Given the description of an element on the screen output the (x, y) to click on. 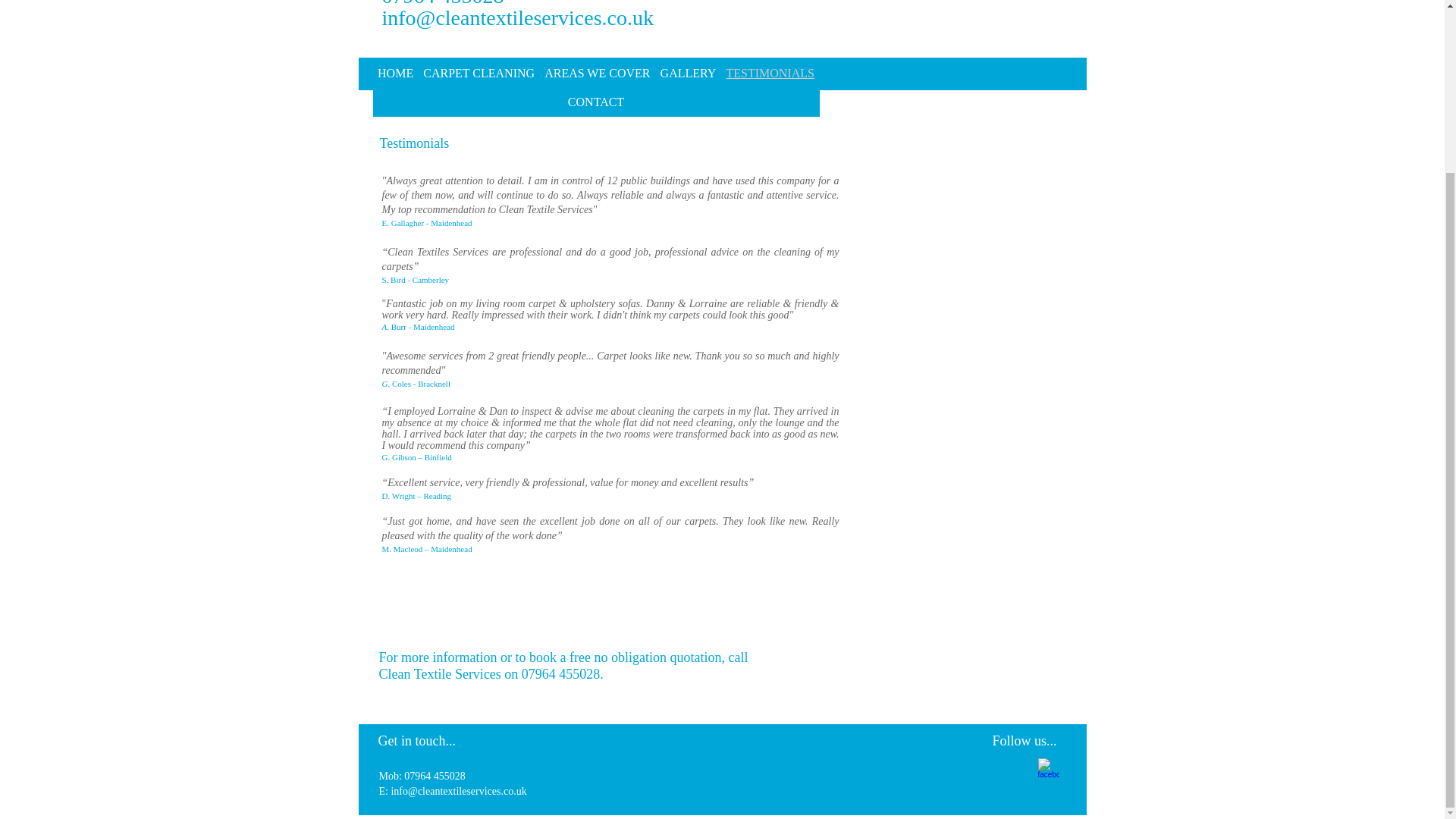
CARPET CLEANING (479, 72)
CONTACT (595, 102)
TESTIMONIALS (769, 72)
AREAS WE COVER (597, 72)
HOME (395, 72)
GALLERY (687, 72)
